Given the description of an element on the screen output the (x, y) to click on. 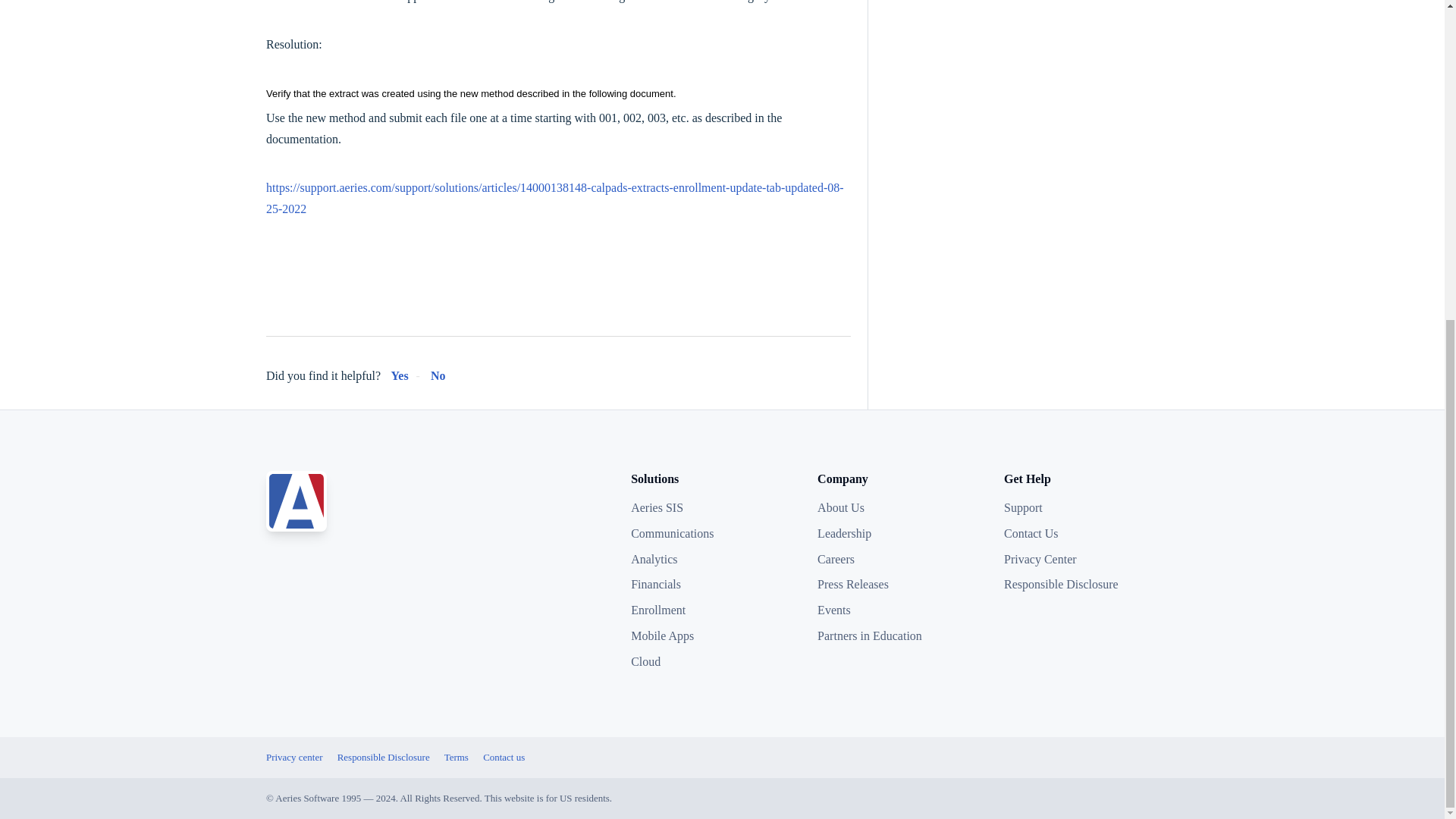
Privacy Center (1090, 558)
Cloud (717, 661)
Contact Us (1090, 533)
Mobile Apps (717, 635)
Terms (462, 756)
Press Releases (903, 584)
Careers (903, 558)
Financials (717, 584)
Leadership (903, 533)
Responsible Disclosure (389, 756)
